Given the description of an element on the screen output the (x, y) to click on. 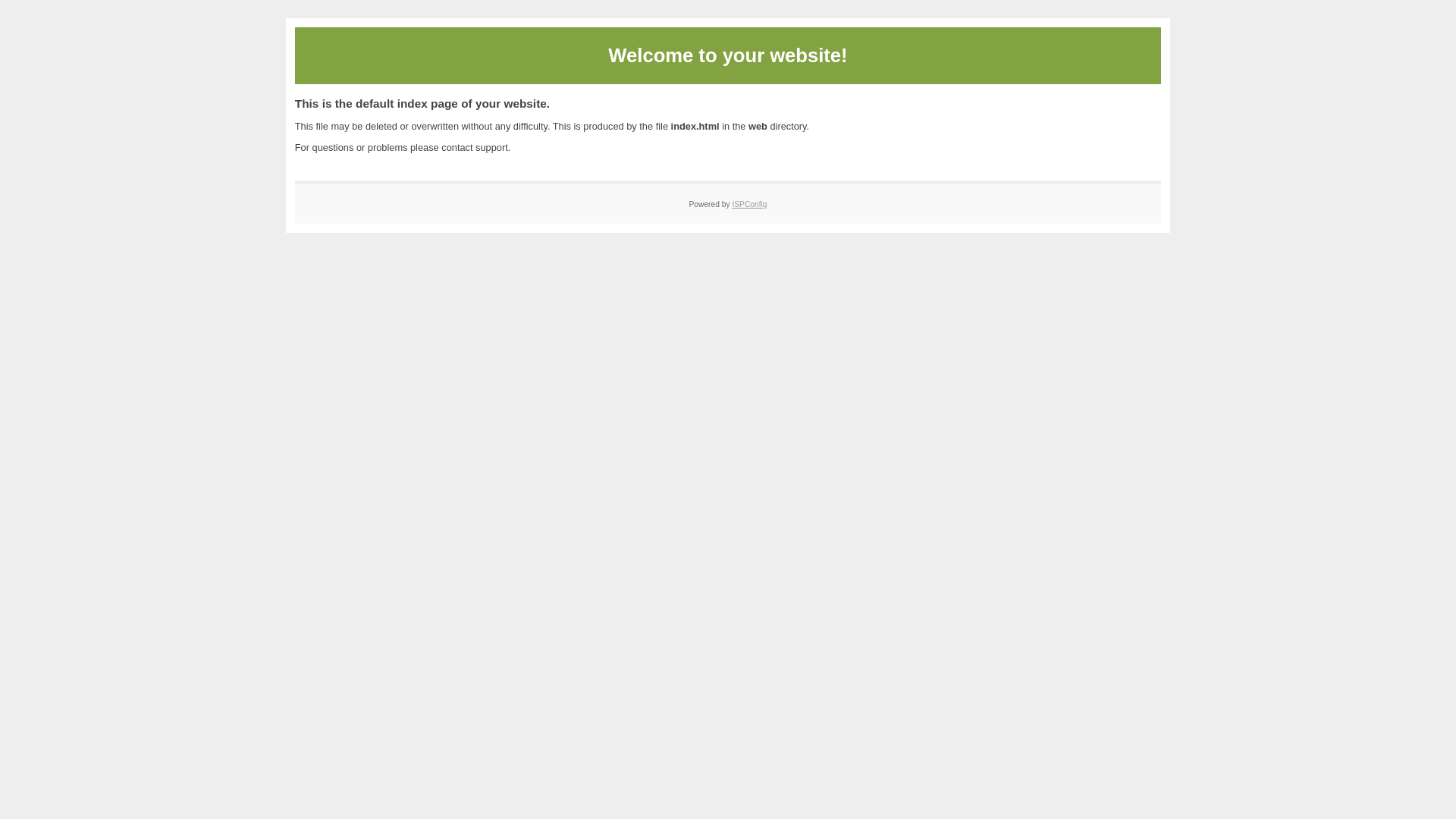
ISPConfig Element type: text (748, 204)
